Given the description of an element on the screen output the (x, y) to click on. 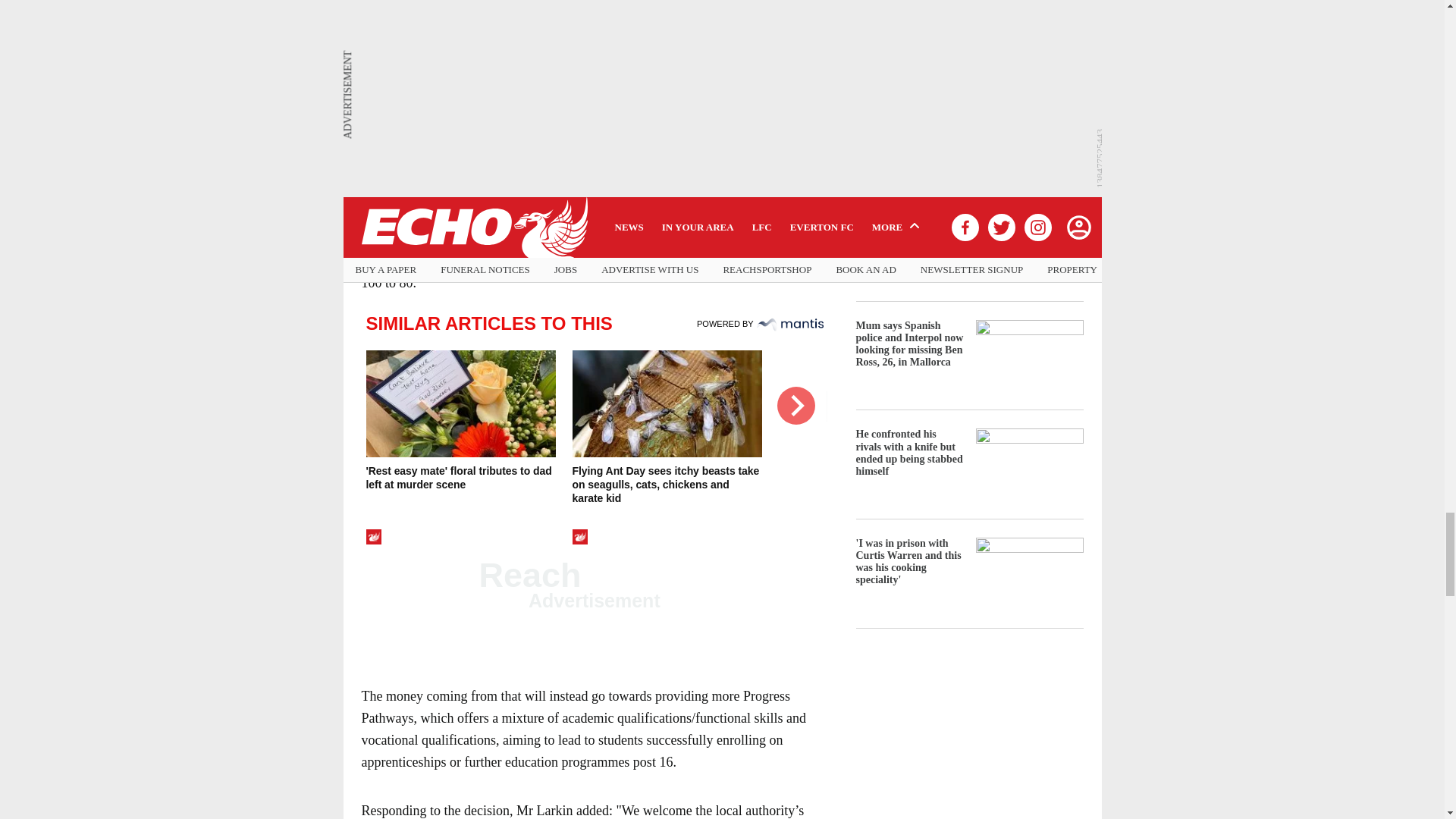
3rd party ad content (590, 58)
